Given the description of an element on the screen output the (x, y) to click on. 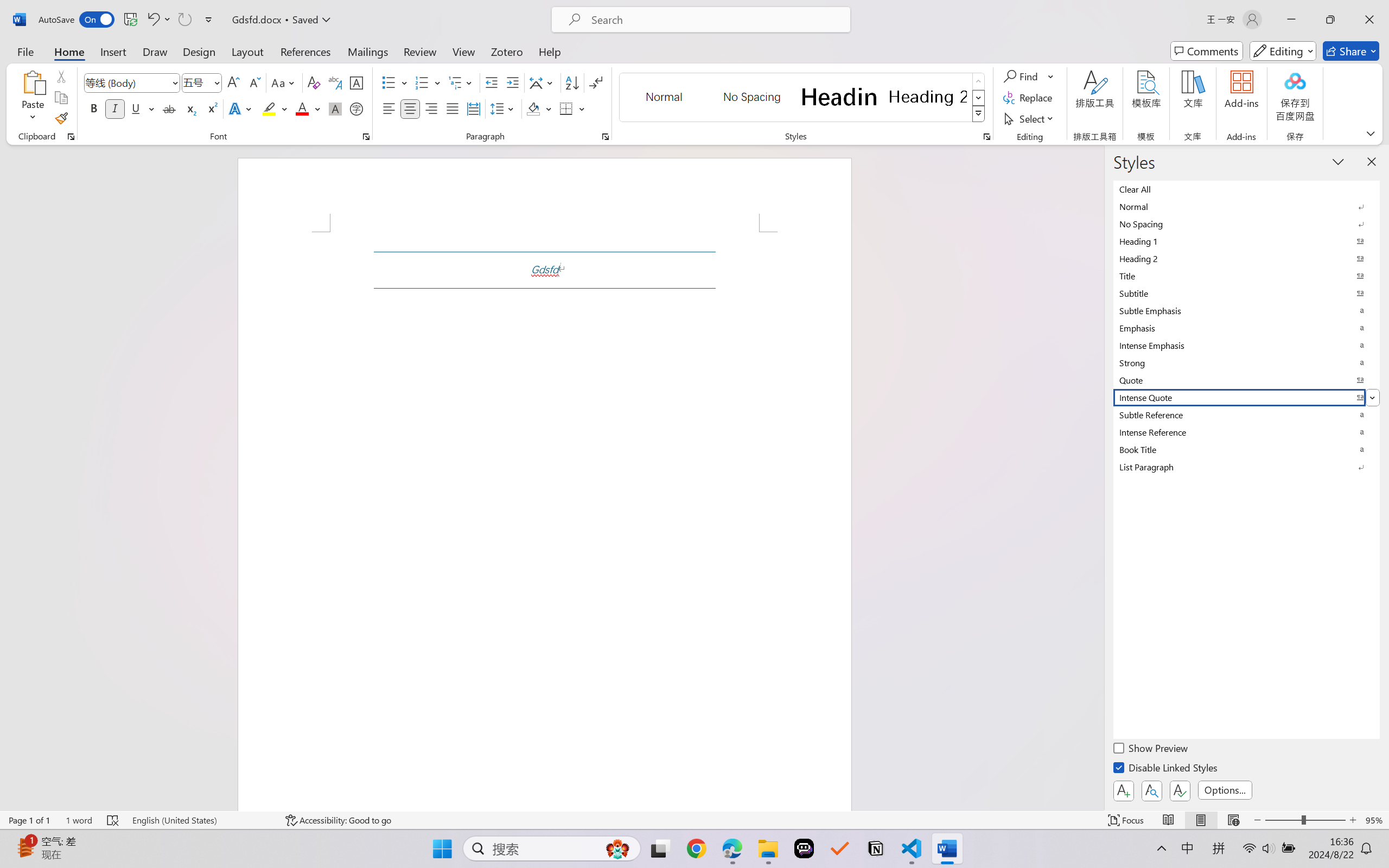
Select (1030, 118)
Shrink Font (253, 82)
Justify (452, 108)
Text Highlight Color Yellow (269, 108)
Microsoft search (715, 19)
Show Preview (1151, 749)
Increase Indent (512, 82)
